Given the description of an element on the screen output the (x, y) to click on. 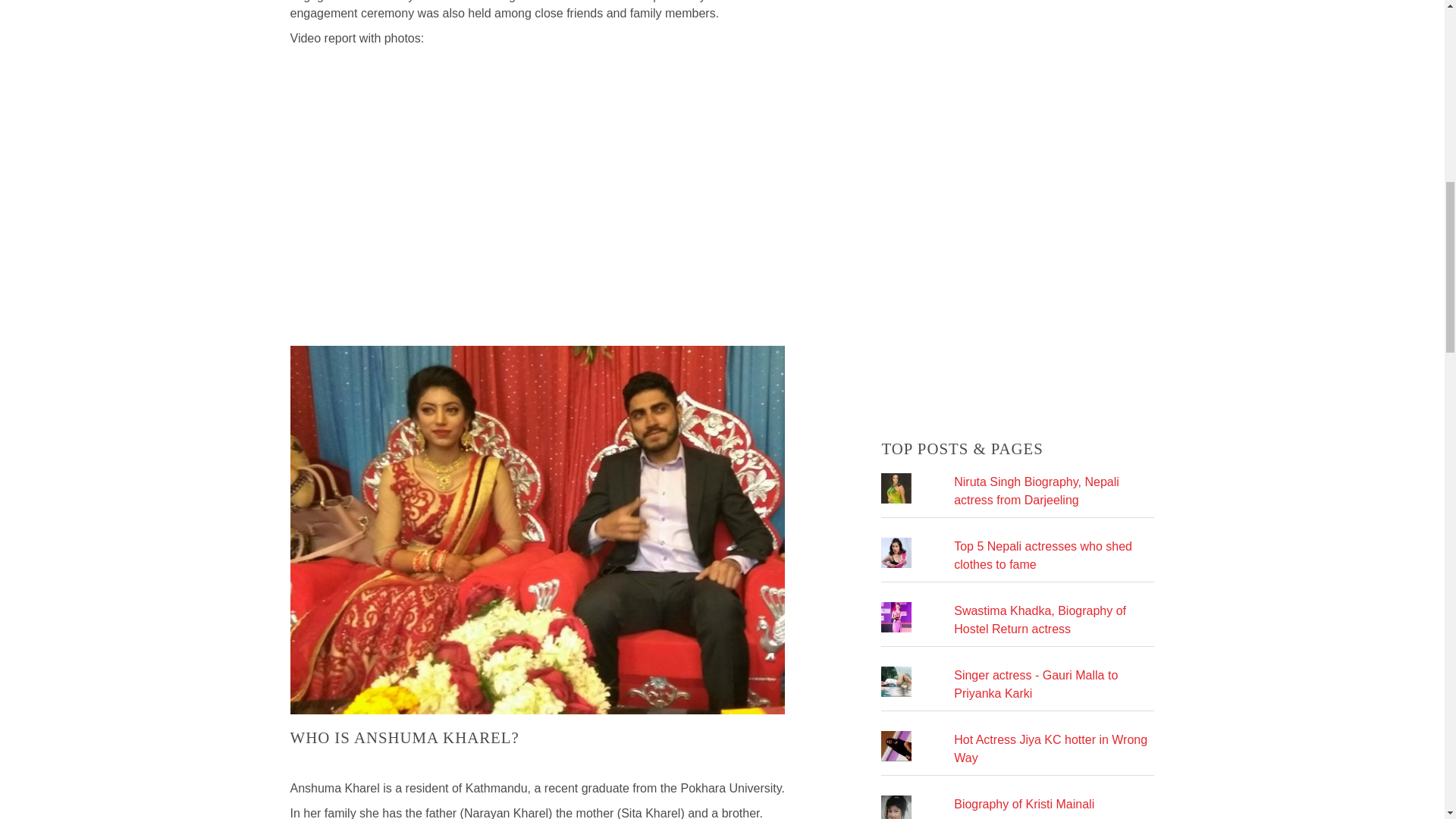
Swastima Khadka, Biography of Hostel Return actress (1039, 619)
Top 5 Nepali actresses who shed clothes to fame (1042, 554)
Niruta Singh Biography, Nepali actress from Darjeeling (1036, 490)
